Given the description of an element on the screen output the (x, y) to click on. 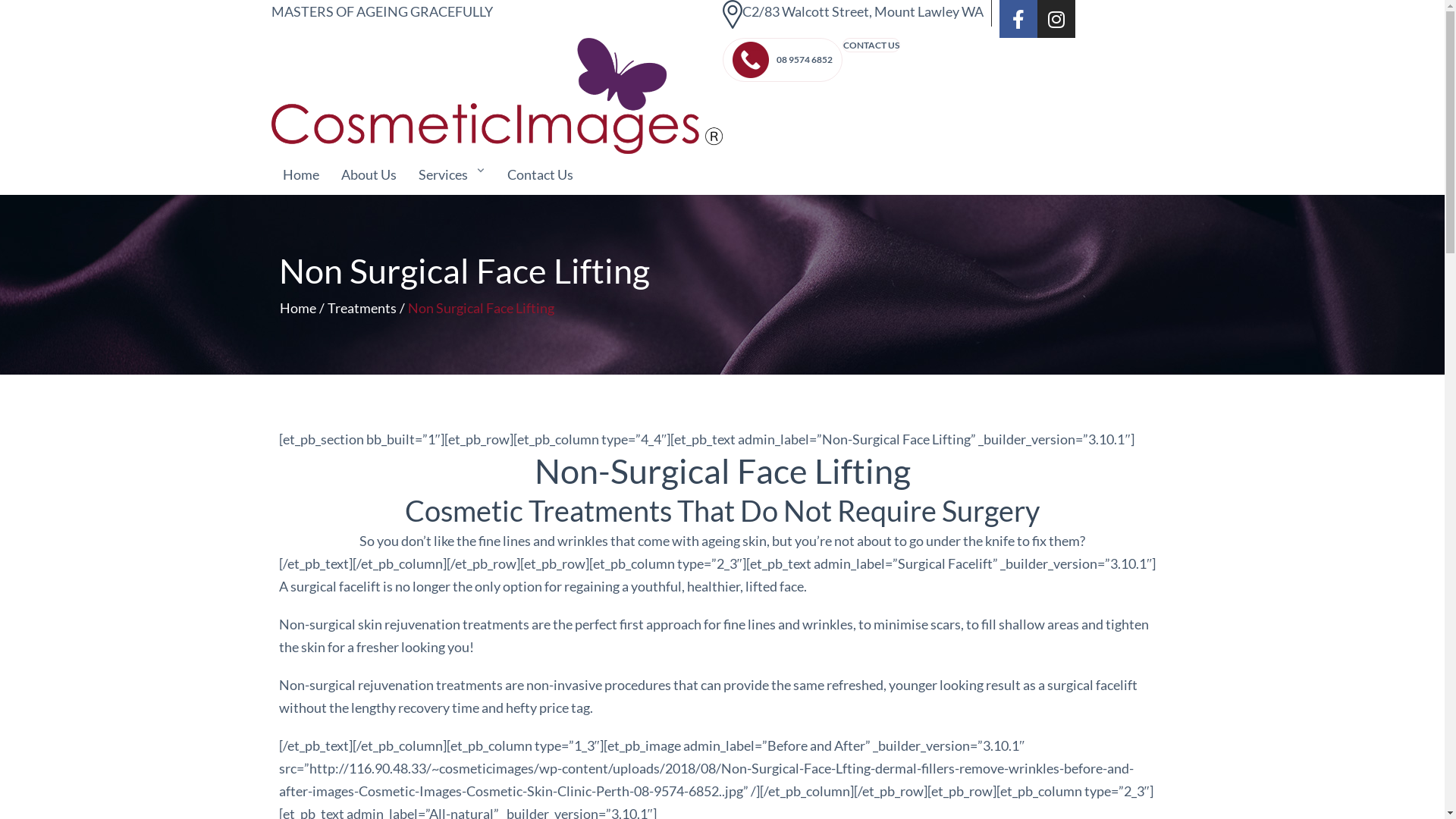
Treatments Element type: text (361, 307)
Home Element type: text (297, 307)
08 9574 6852 Element type: text (781, 59)
Contact Us Element type: text (540, 173)
Services Element type: text (451, 173)
Cosmetic Images logo RGB Element type: hover (496, 95)
About Us Element type: text (368, 173)
icon_header_home_1 Element type: hover (731, 14)
CONTACT US Element type: text (870, 44)
Home Element type: text (300, 173)
